Given the description of an element on the screen output the (x, y) to click on. 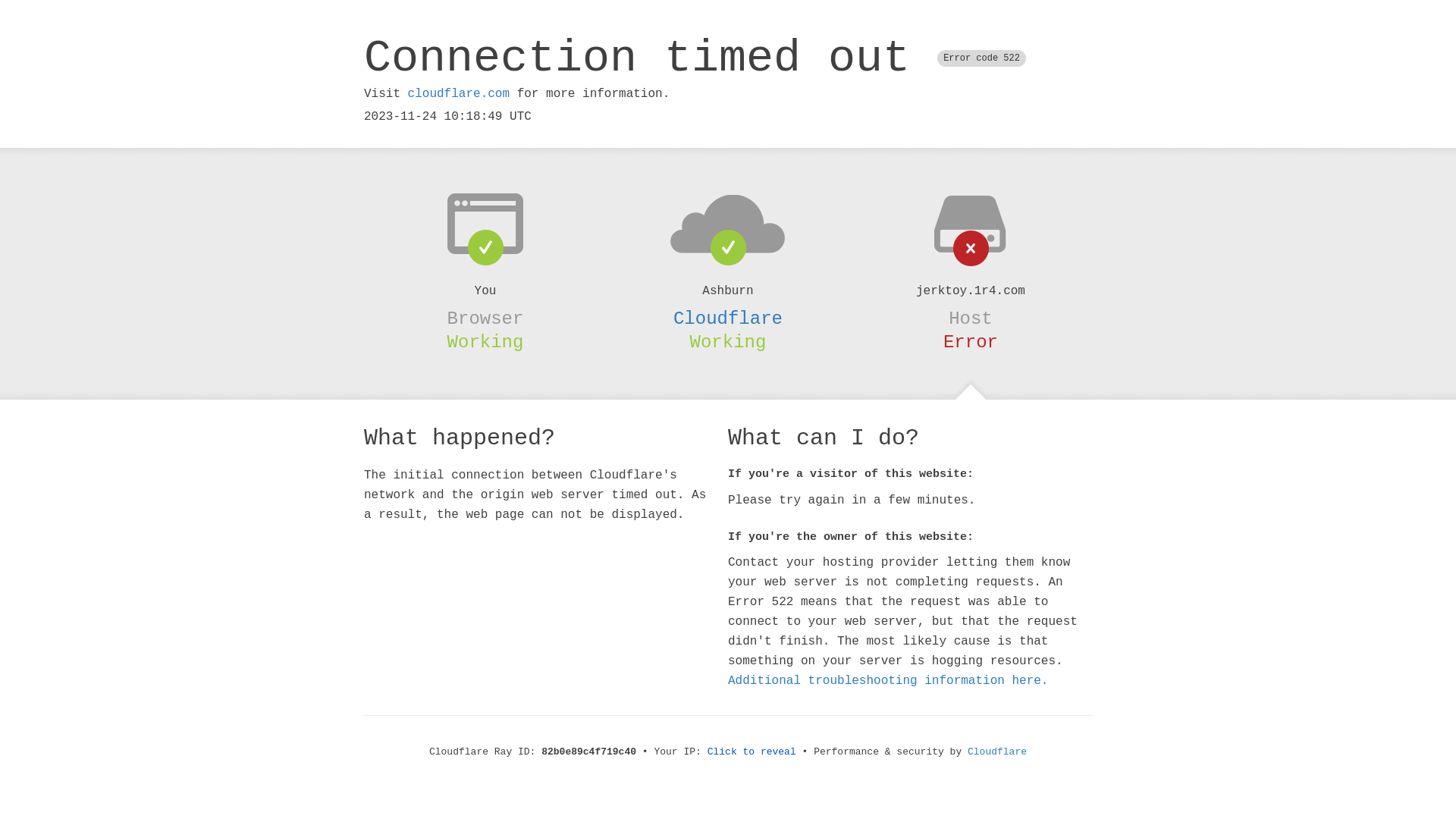
Click to reveal Element type: text (751, 751)
Additional troubleshooting information here. Element type: text (888, 680)
cloudflare.com Element type: text (458, 93)
Cloudflare Element type: text (996, 751)
Cloudflare Element type: text (727, 318)
